Given the description of an element on the screen output the (x, y) to click on. 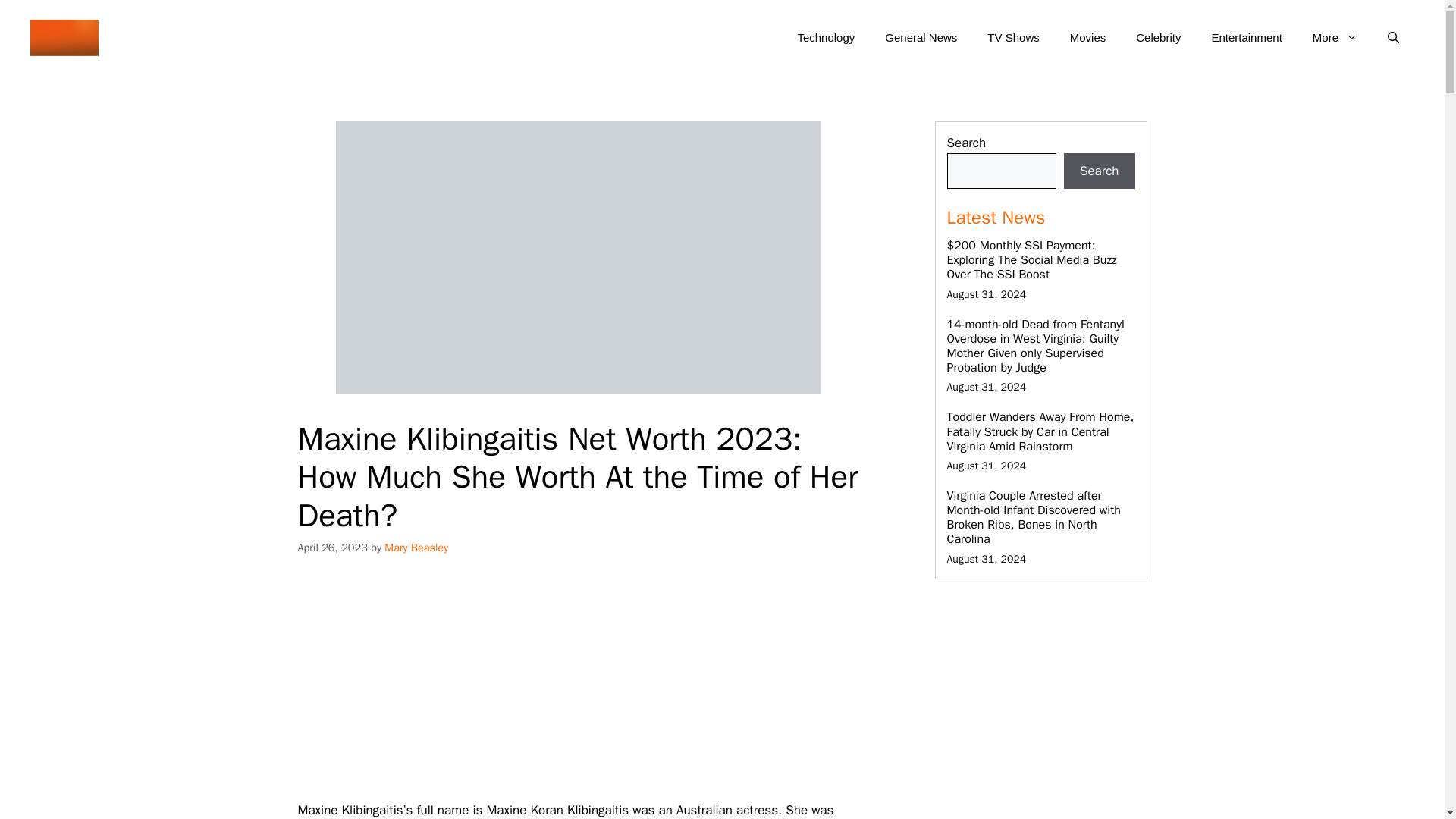
View all posts by Mary Beasley (416, 547)
General News (920, 37)
Entertainment (1246, 37)
TV Shows (1013, 37)
More (1335, 37)
Technology (825, 37)
Search (1099, 171)
